Given the description of an element on the screen output the (x, y) to click on. 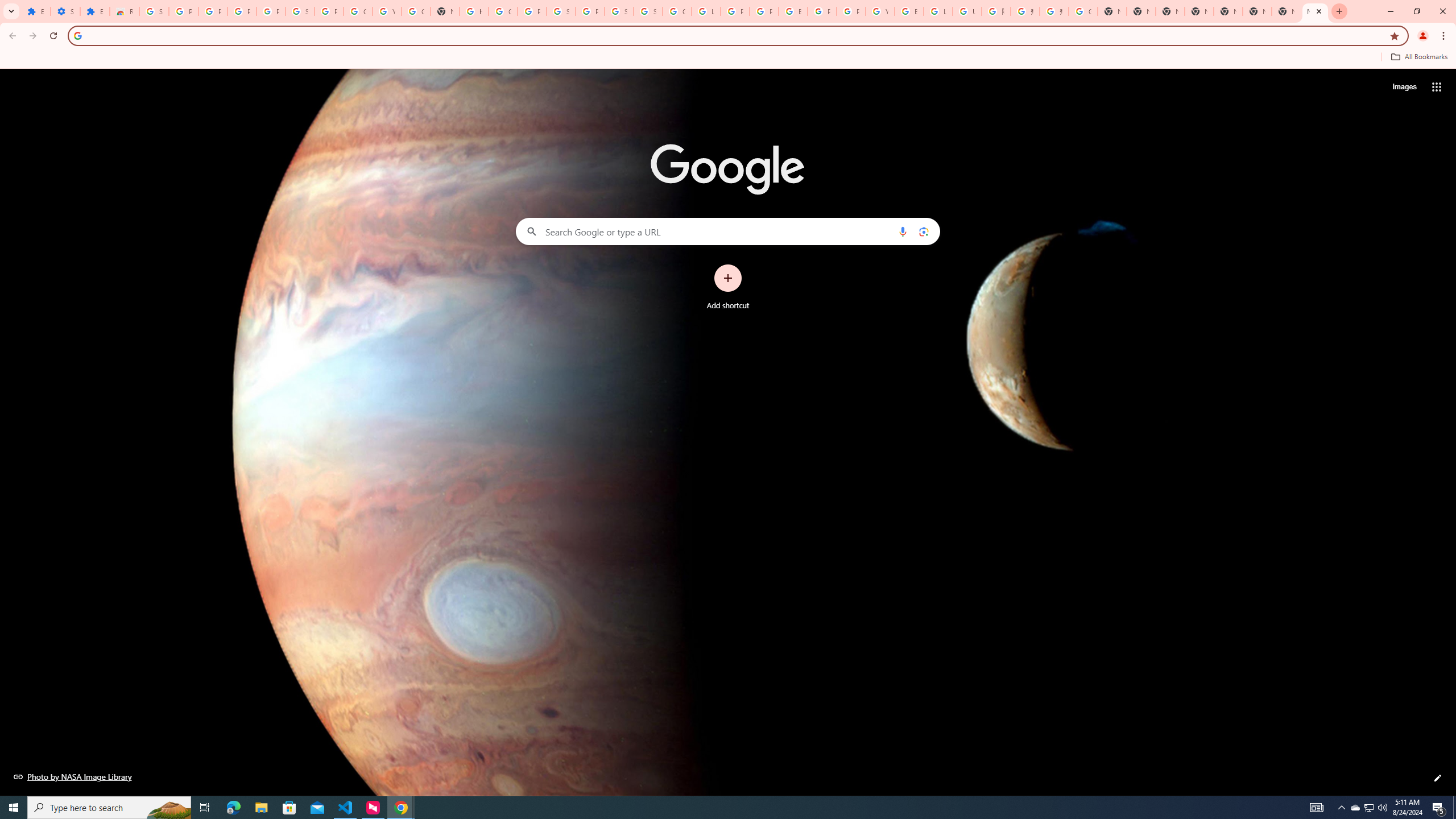
Customize this page (1437, 778)
Extensions (35, 11)
Browse Chrome as a guest - Computer - Google Chrome Help (908, 11)
Settings (65, 11)
Sign in - Google Accounts (153, 11)
Sign in - Google Accounts (648, 11)
Google Images (1082, 11)
